Given the description of an element on the screen output the (x, y) to click on. 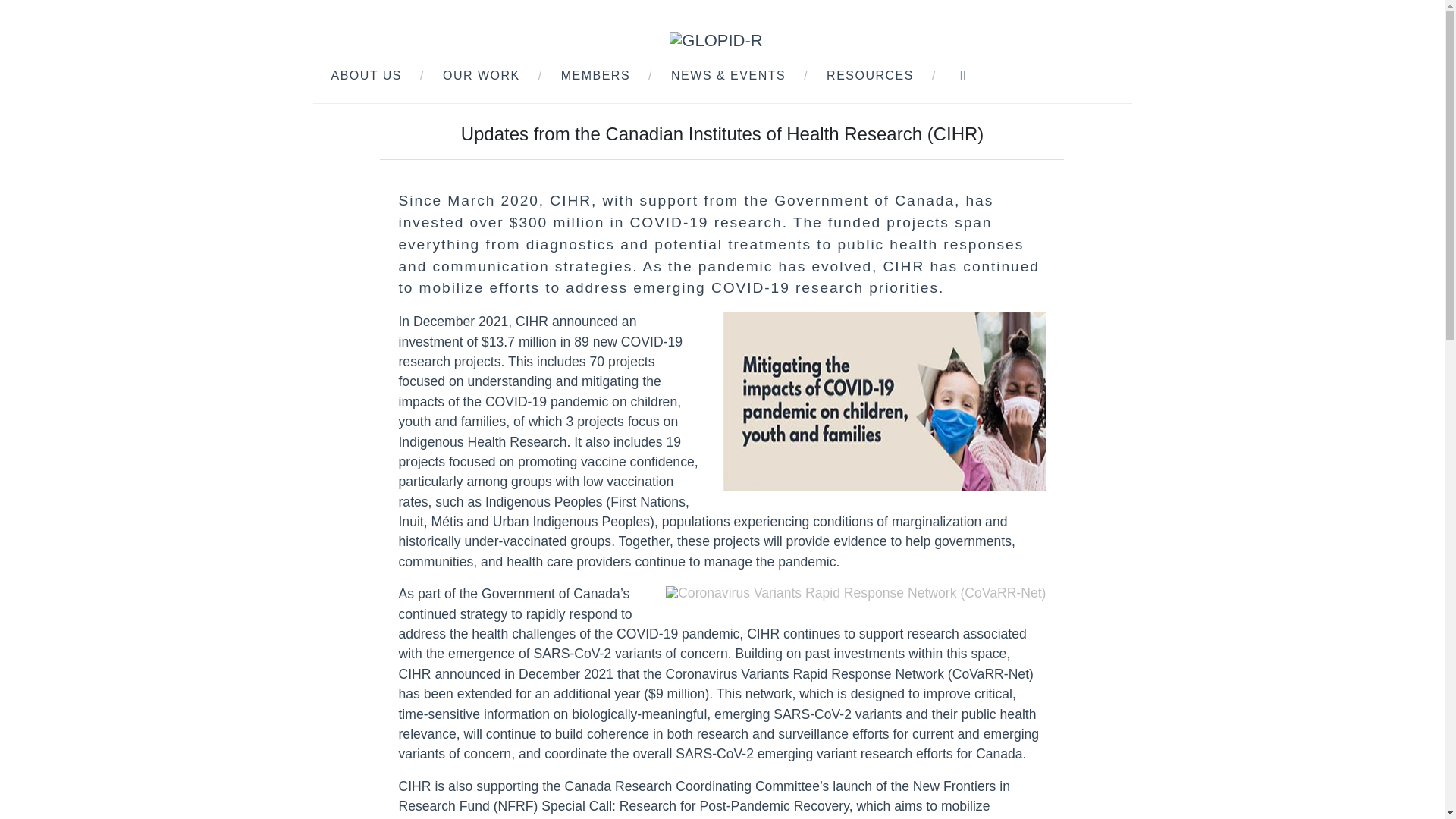
ABOUT US (365, 75)
OUR WORK (480, 75)
RESOURCES (870, 75)
MEMBERS (595, 75)
